Given the description of an element on the screen output the (x, y) to click on. 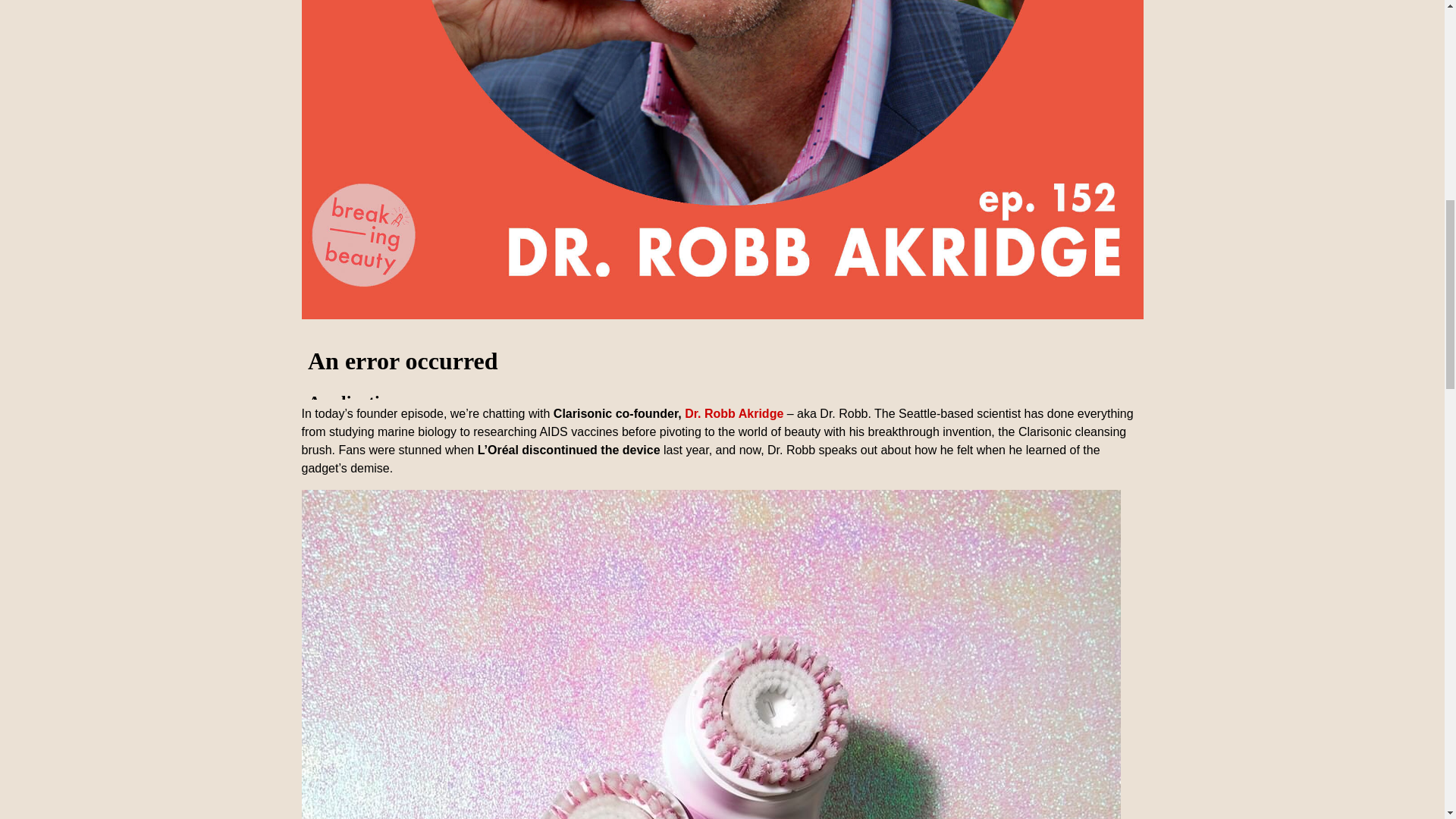
Libsyn Player (721, 365)
Dr. Robb Akridge (733, 413)
